Given the description of an element on the screen output the (x, y) to click on. 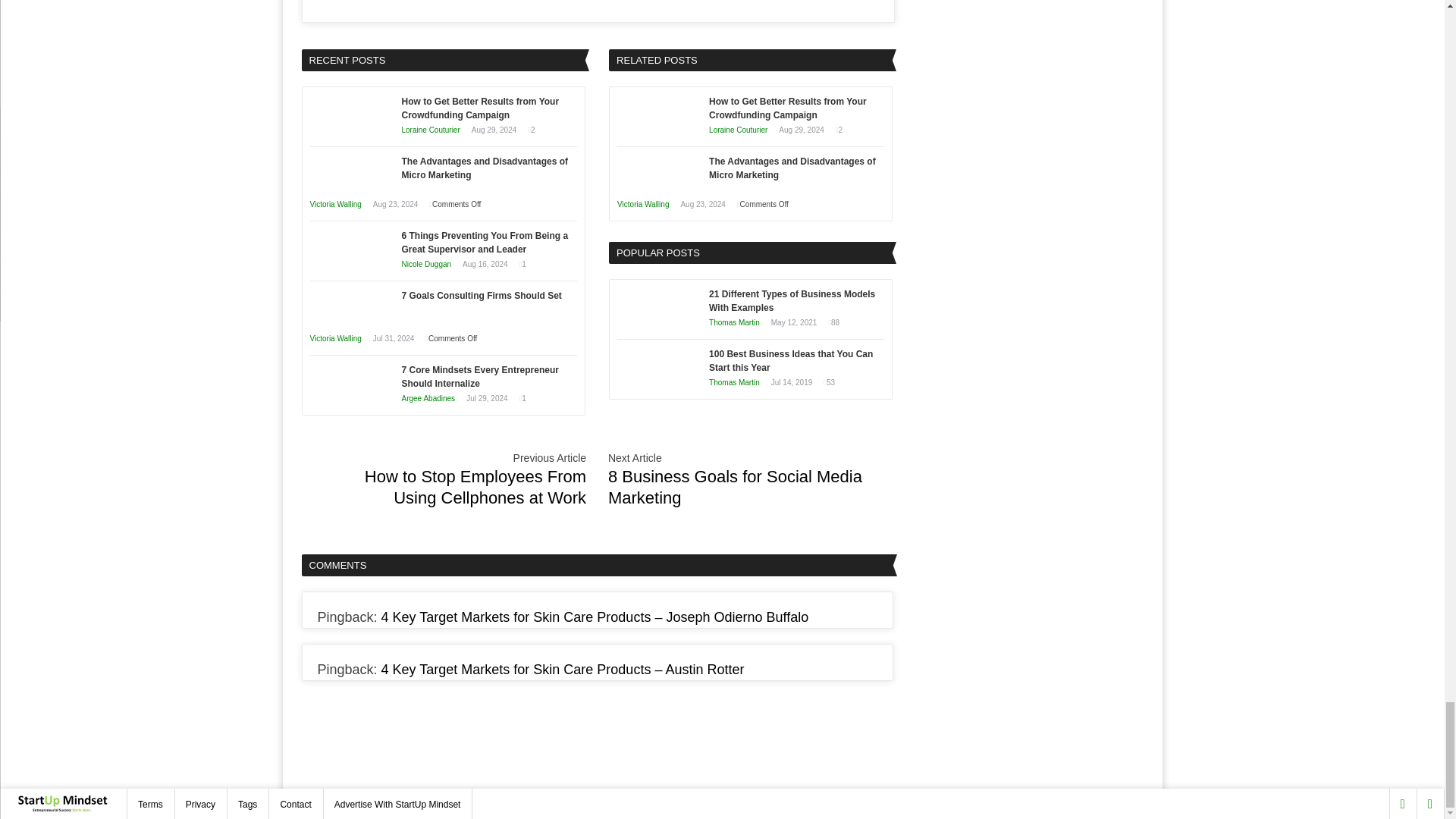
Posts by Loraine Couturier (738, 129)
Posts by Victoria Walling (334, 338)
Posts by Victoria Walling (334, 203)
Posts by Thomas Martin (734, 382)
Posts by Argee Abadines (428, 397)
Posts by Victoria Walling (642, 203)
Posts by Nicole Duggan (426, 264)
Posts by Loraine Couturier (430, 129)
Posts by Thomas Martin (734, 321)
